Given the description of an element on the screen output the (x, y) to click on. 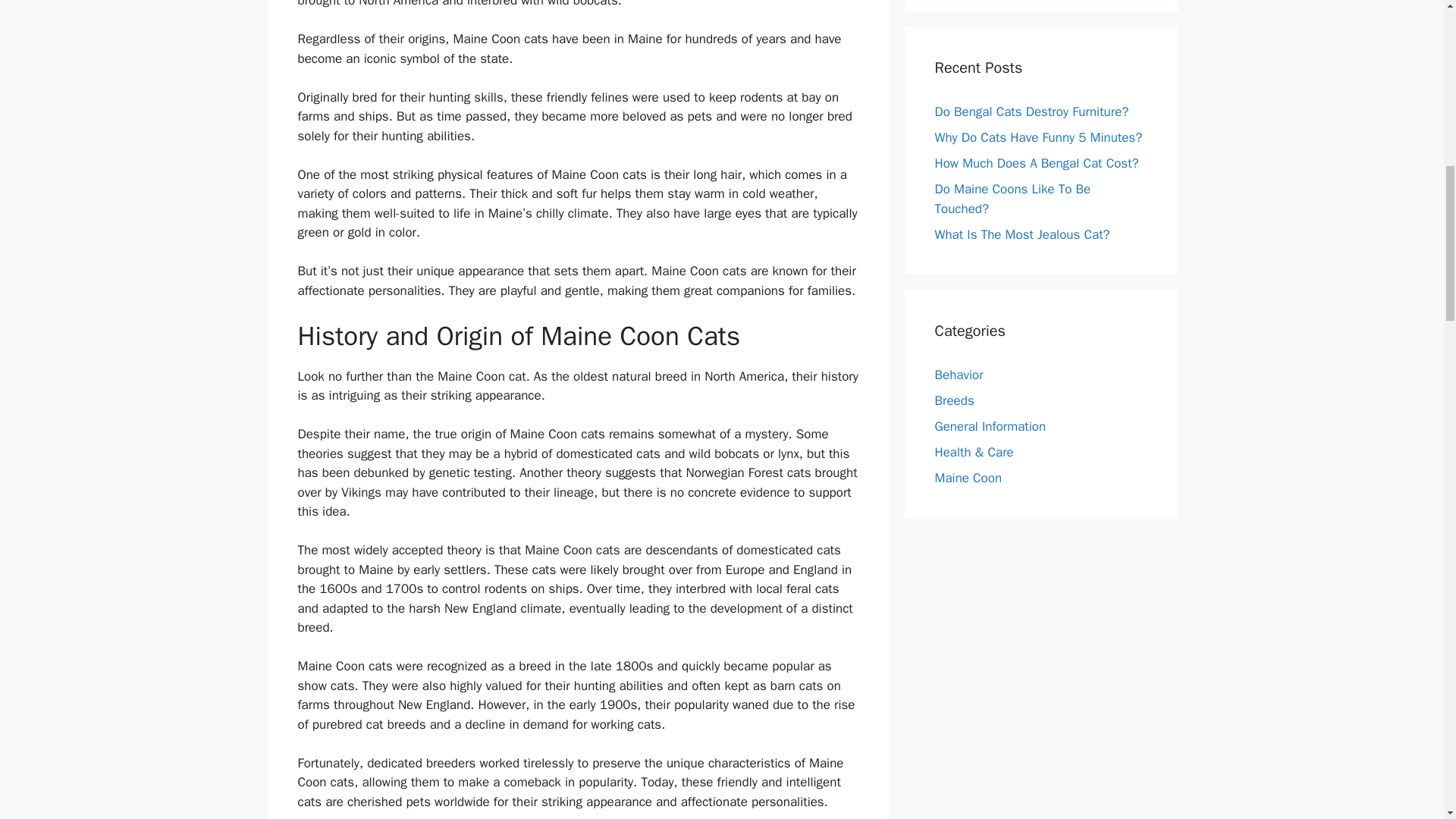
Breeds (954, 400)
General Information (989, 426)
Do Maine Coons Like To Be Touched? (1012, 198)
Behavior (958, 374)
Scroll back to top (1406, 720)
Do Bengal Cats Destroy Furniture? (1031, 111)
What Is The Most Jealous Cat? (1021, 233)
Why Do Cats Have Funny 5 Minutes? (1037, 137)
How Much Does A Bengal Cat Cost? (1036, 163)
